Given the description of an element on the screen output the (x, y) to click on. 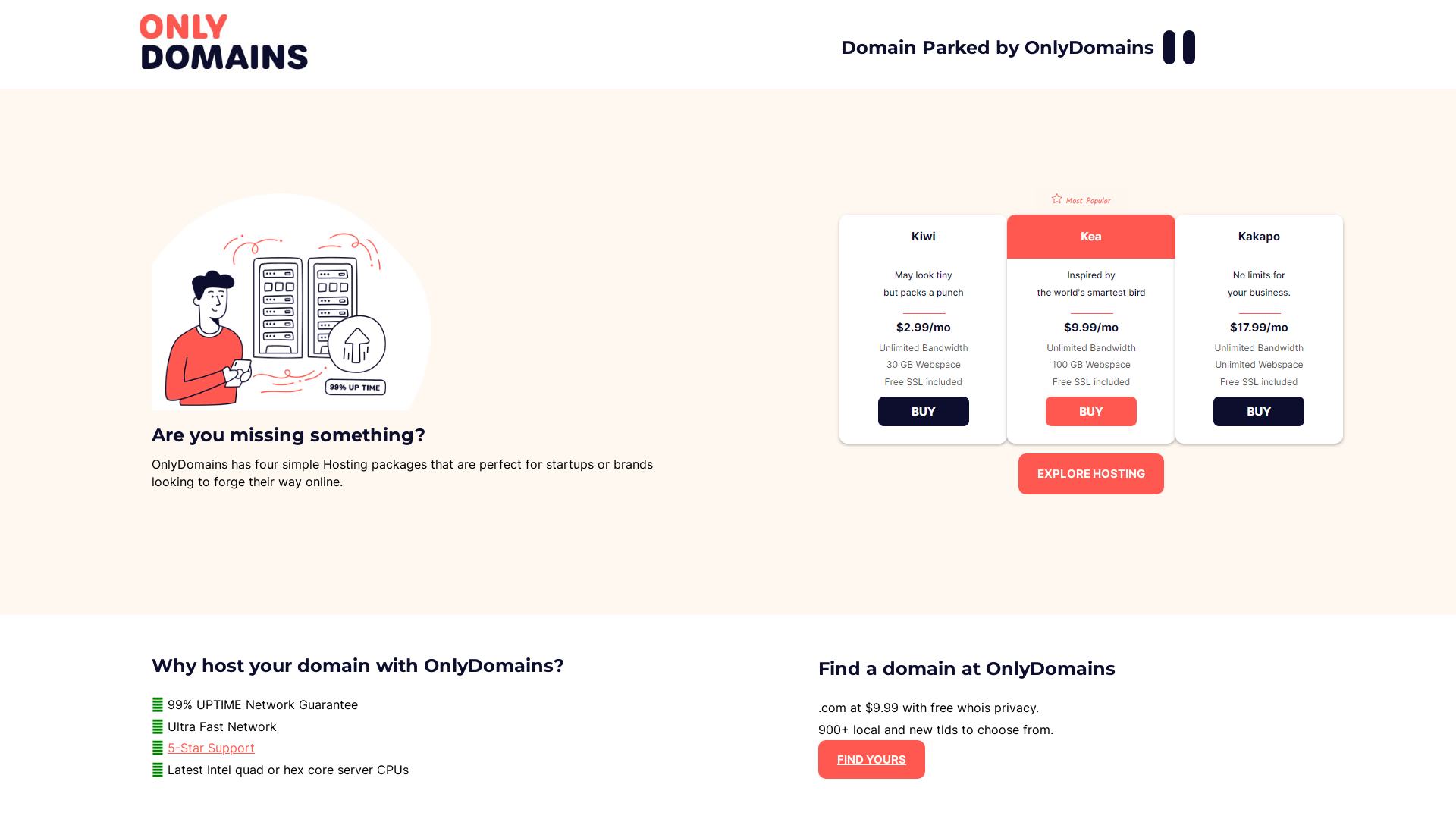
FIND YOURS Element type: text (871, 759)
OnlyDomains Twitter Element type: hover (1188, 47)
5-Star Support Element type: text (210, 747)
EXPLORE HOSTING Element type: text (1091, 473)
OnlyDomains Facebook Element type: hover (1169, 47)
